Given the description of an element on the screen output the (x, y) to click on. 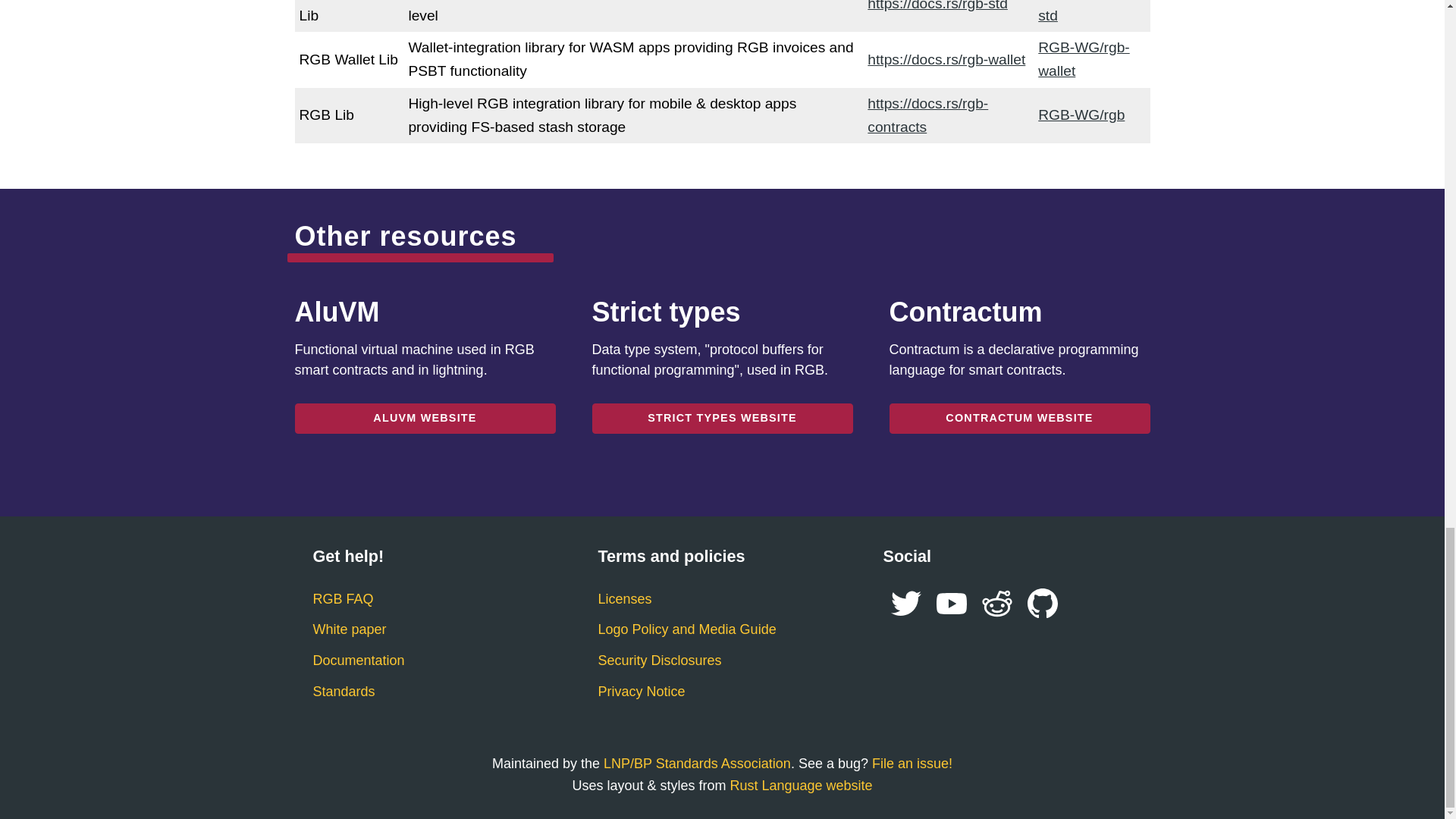
Standards (343, 691)
YouTube (951, 603)
Privacy Notice (640, 691)
CONTRACTUM WEBSITE (1019, 418)
Documentation (358, 660)
ALUVM WEBSITE (424, 418)
GitHub (1041, 603)
White paper (349, 629)
Licenses (623, 598)
Discord (996, 603)
Twitter (905, 603)
Security Disclosures (658, 660)
STRICT TYPES WEBSITE (721, 418)
Logo Policy and Media Guide (686, 629)
RGB FAQ (342, 598)
